Given the description of an element on the screen output the (x, y) to click on. 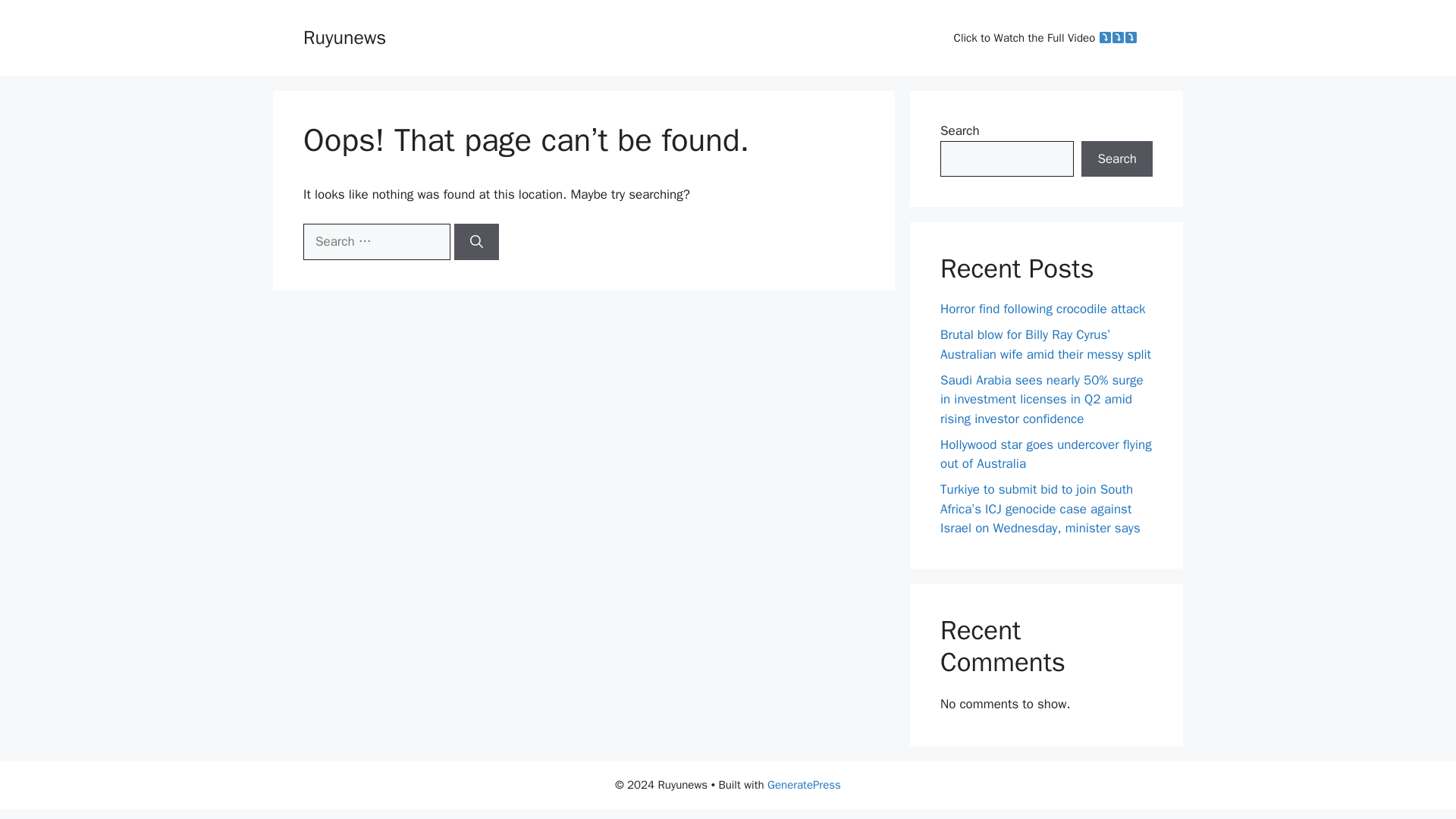
Search (1117, 158)
GeneratePress (804, 784)
Click to Watch the Full Video (1046, 37)
Horror find following crocodile attack (1042, 308)
Search for: (375, 241)
Hollywood star goes undercover flying out of Australia (1045, 454)
Ruyunews (343, 37)
